Given the description of an element on the screen output the (x, y) to click on. 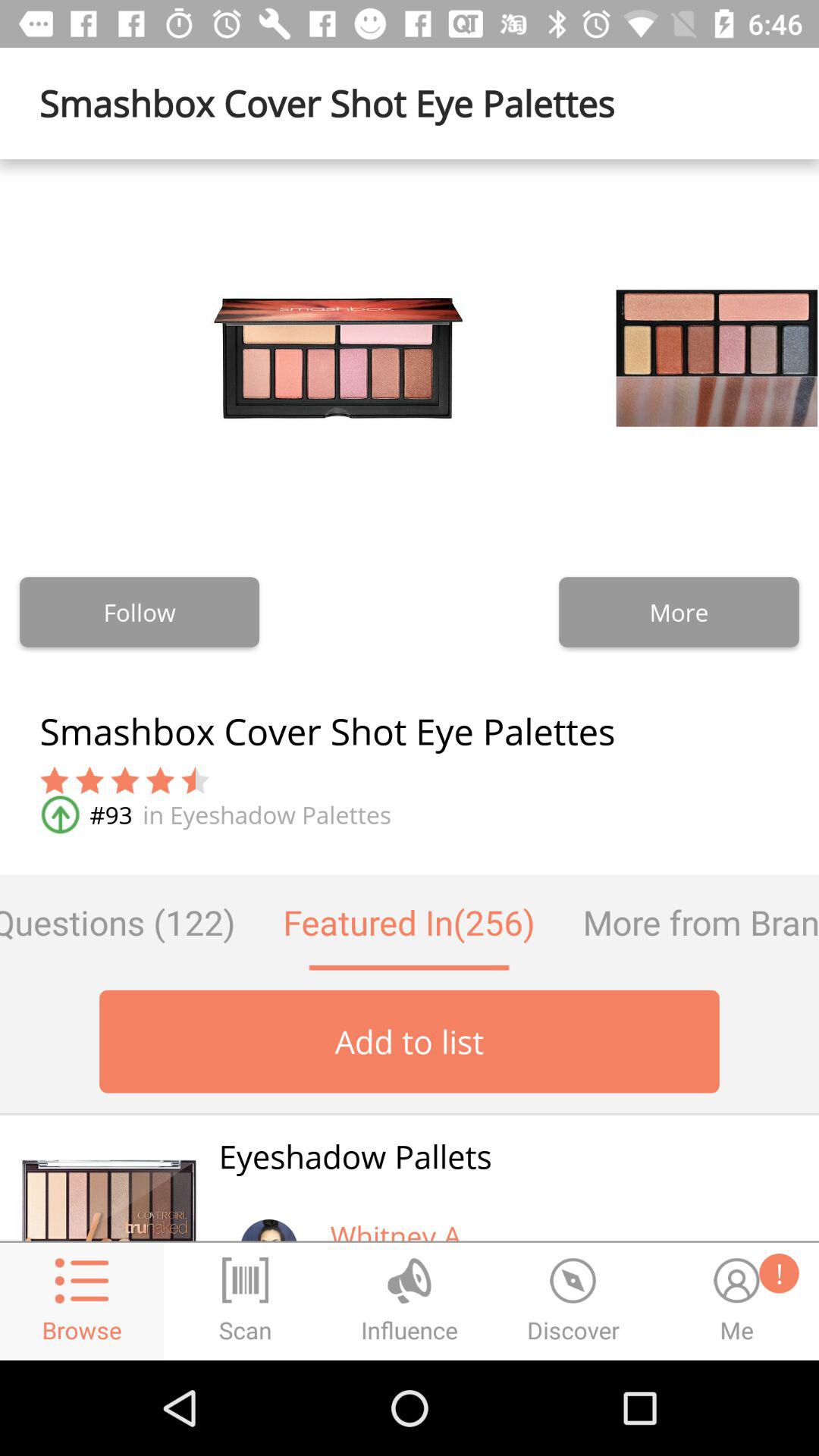
open item next to the more from brand item (409, 922)
